Given the description of an element on the screen output the (x, y) to click on. 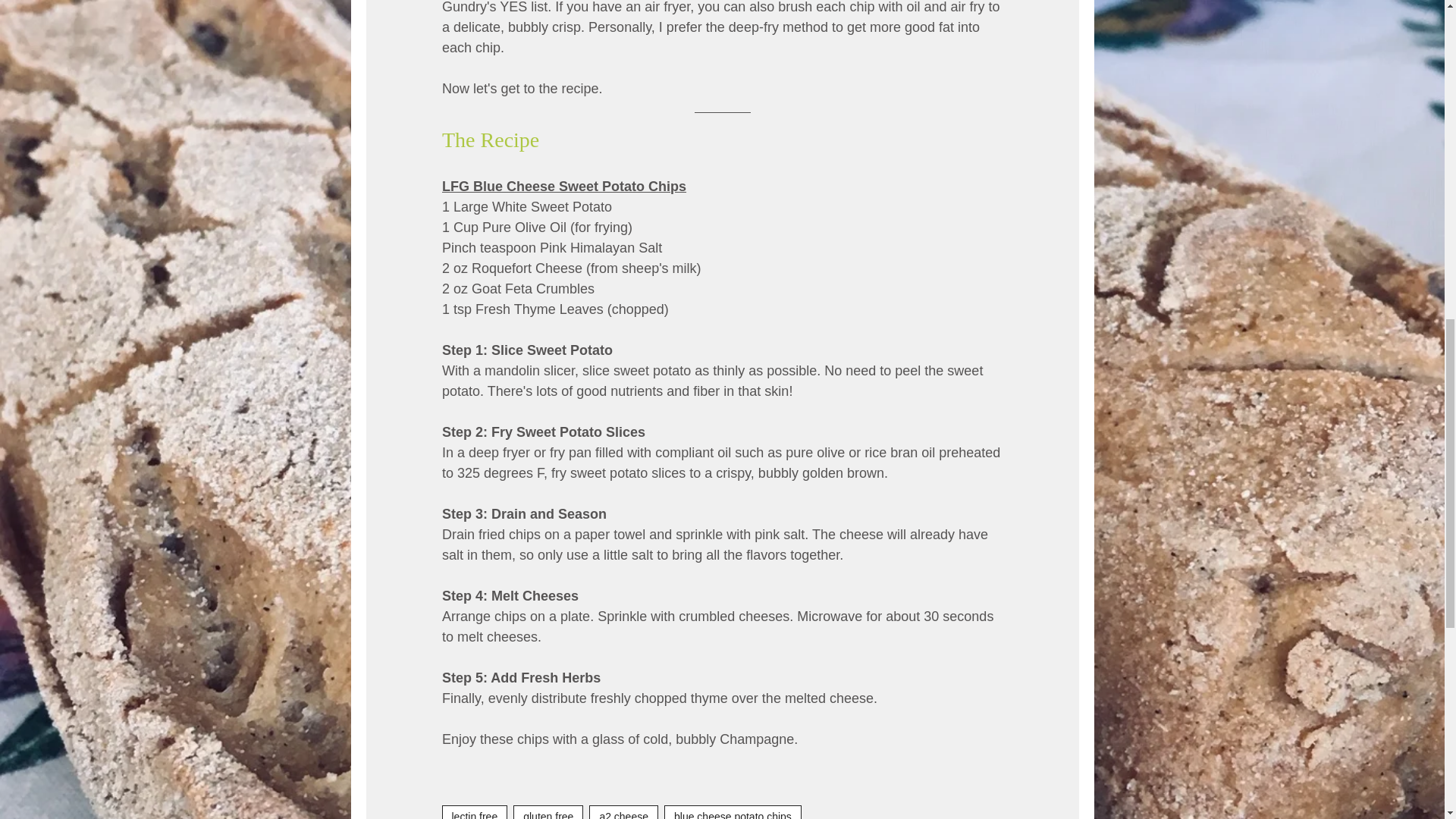
gluten free (548, 812)
blue cheese potato chips (732, 812)
a2 cheese (623, 812)
lectin free (473, 812)
